Given the description of an element on the screen output the (x, y) to click on. 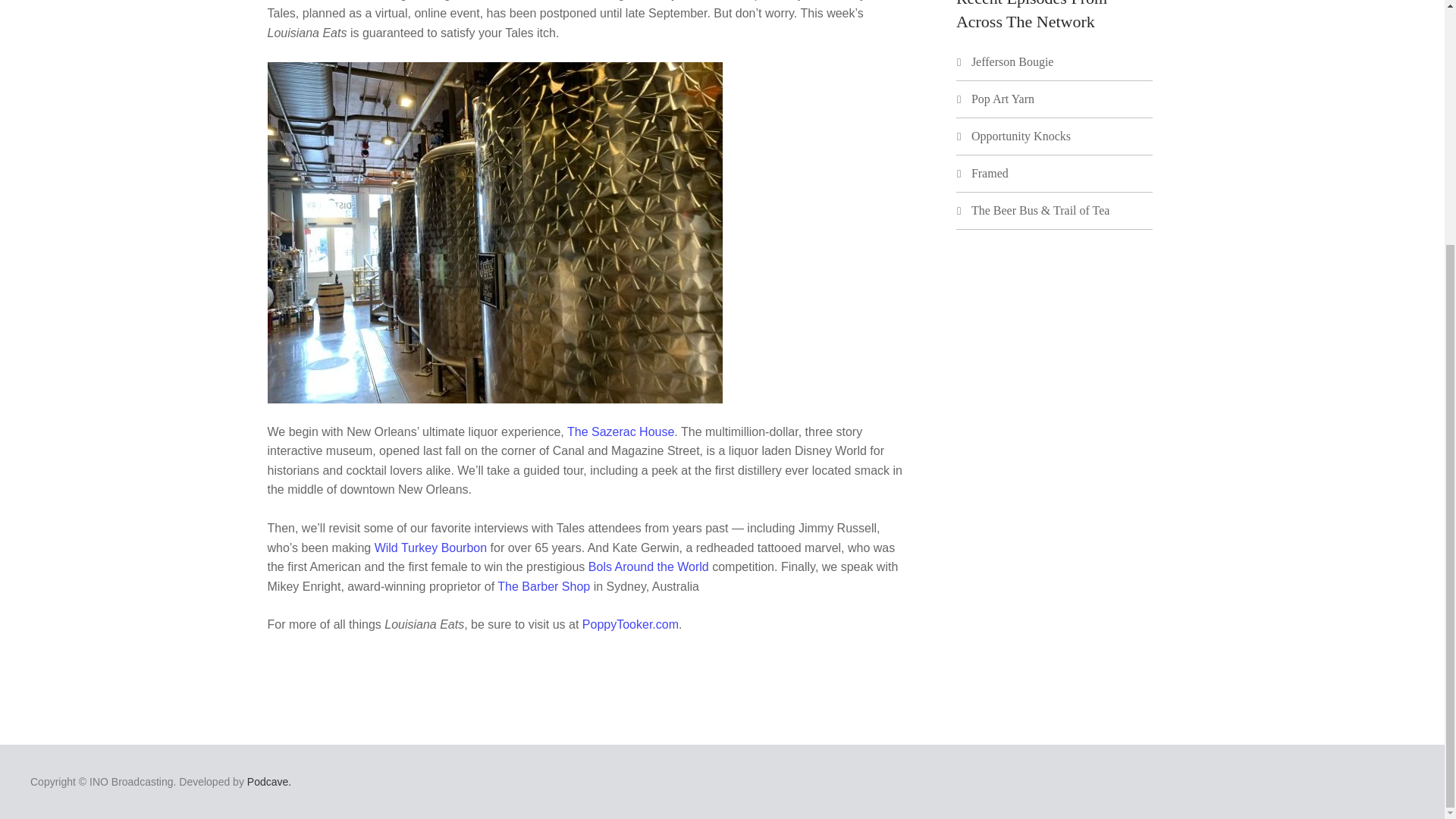
Framed (990, 173)
Jefferson Bougie (1012, 61)
PoppyTooker.com (630, 624)
Podcave. (269, 781)
The Barber Shop (543, 585)
Wild Turkey Bourbon (430, 547)
The Sazerac House (620, 431)
Opportunity Knocks (1020, 135)
Pop Art Yarn (1002, 98)
Bols Around the World (648, 566)
